Given the description of an element on the screen output the (x, y) to click on. 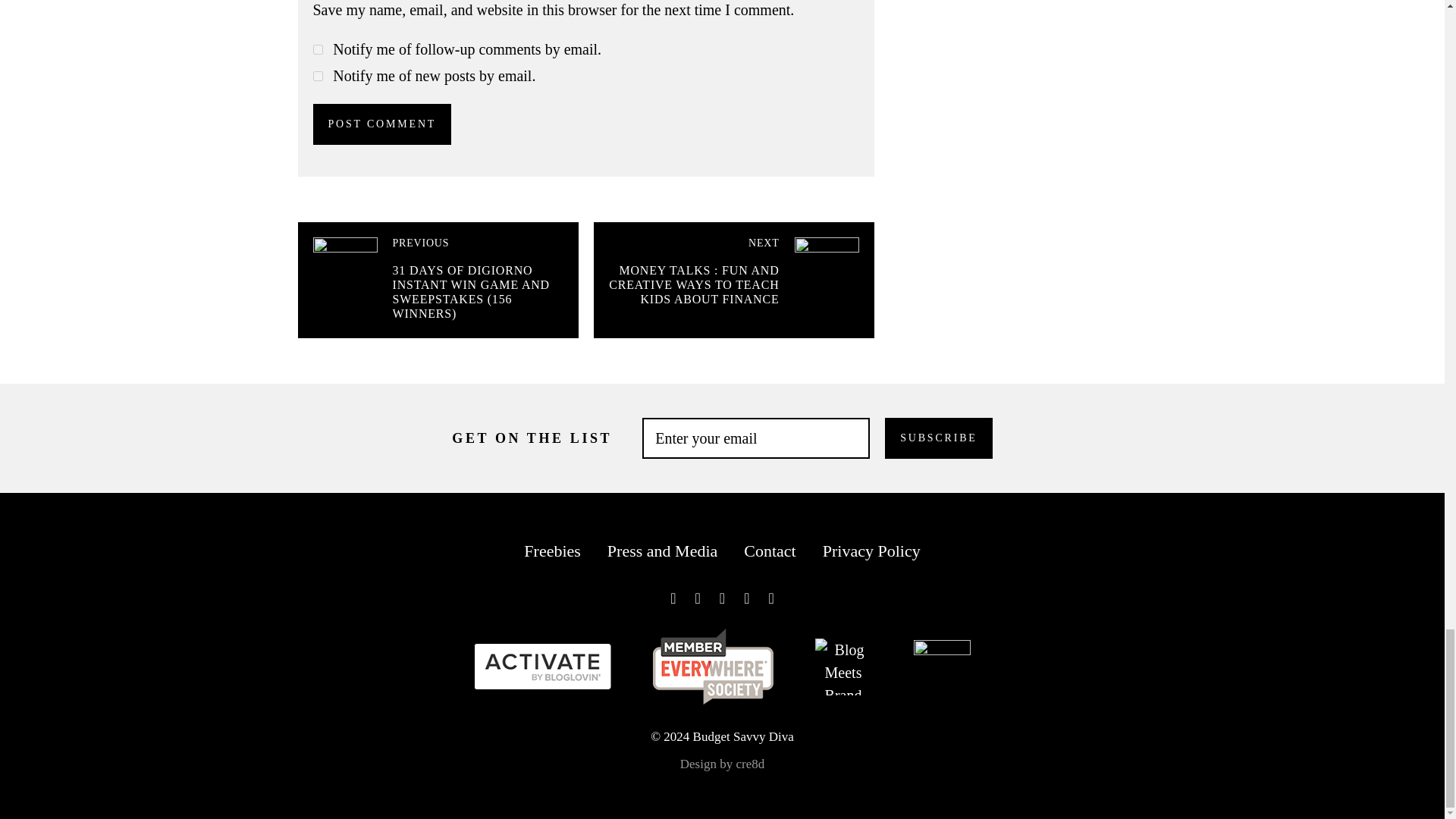
Subscribe (938, 437)
subscribe (317, 49)
subscribe (317, 76)
Post Comment (382, 124)
